Given the description of an element on the screen output the (x, y) to click on. 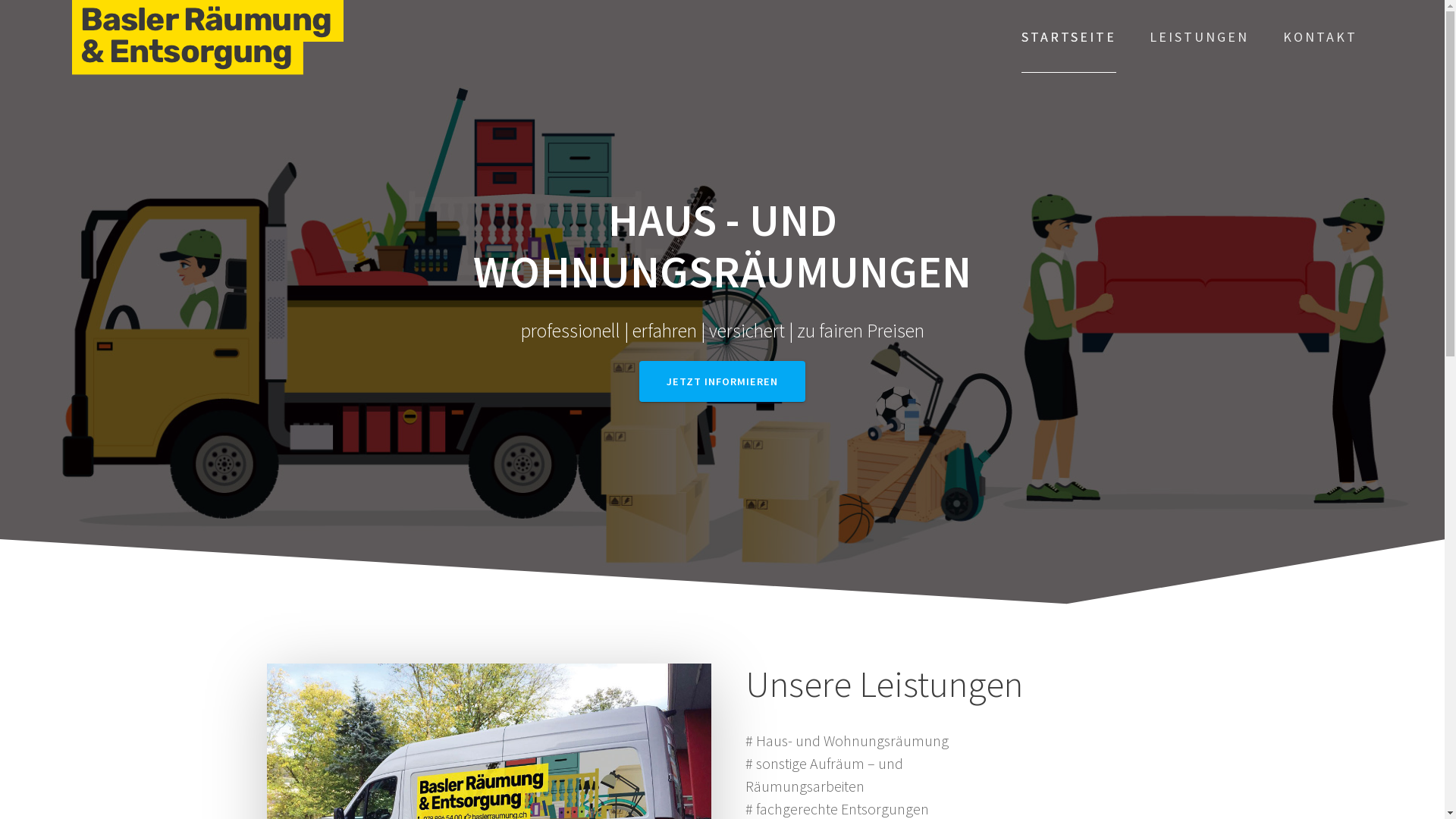
KONTAKT Element type: text (1320, 37)
LEISTUNGEN Element type: text (1198, 37)
JETZT INFORMIEREN Element type: text (722, 381)
STARTSEITE Element type: text (1068, 37)
